Given the description of an element on the screen output the (x, y) to click on. 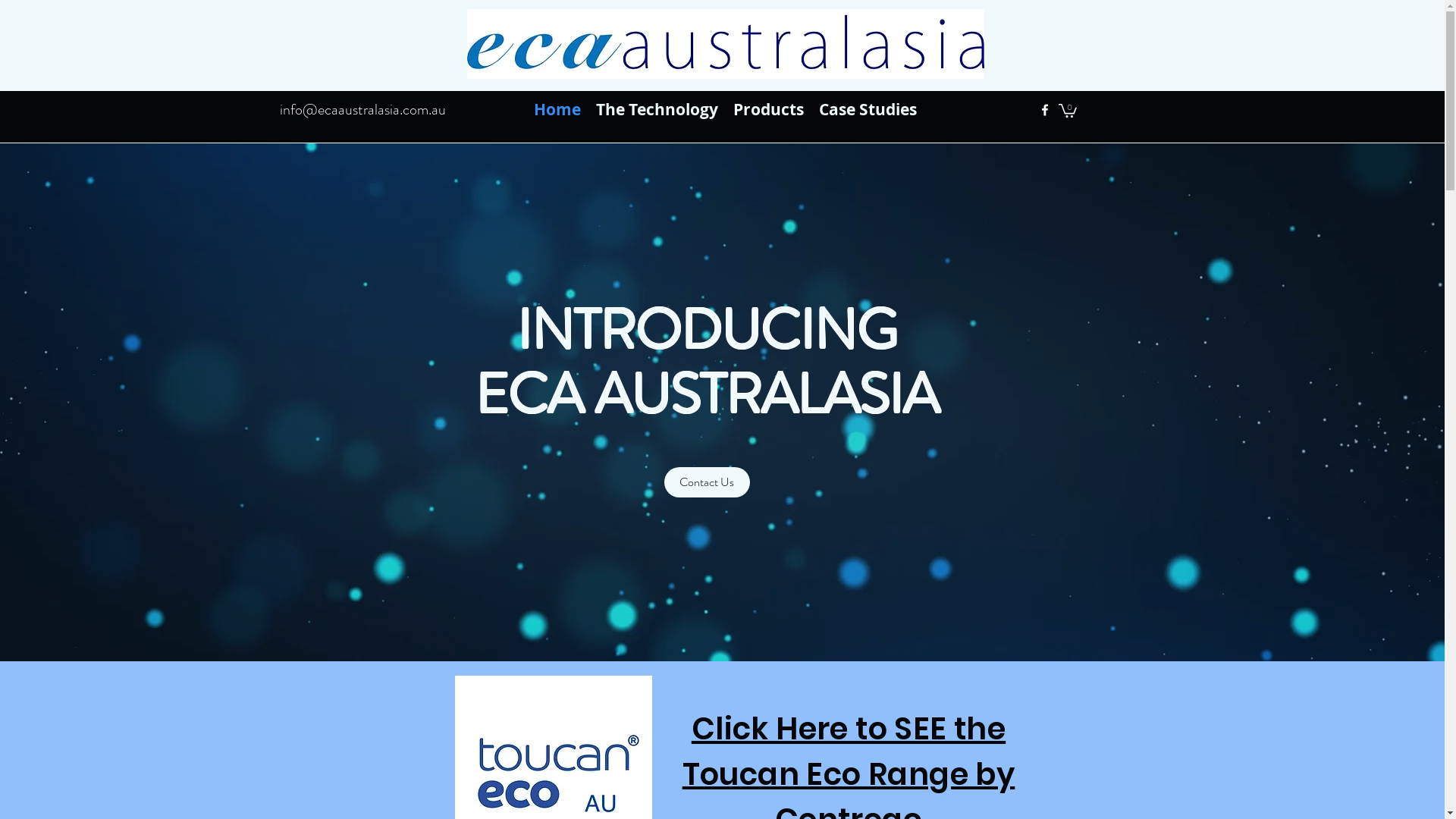
Case Studies Element type: text (867, 109)
0 Element type: text (1067, 109)
info@ecaaustralasia.com.au Element type: text (362, 109)
Contact Us Element type: text (706, 482)
Home Element type: text (557, 109)
The Technology Element type: text (656, 109)
Facebook Like Element type: hover (1188, 83)
Products Element type: text (767, 109)
